Given the description of an element on the screen output the (x, y) to click on. 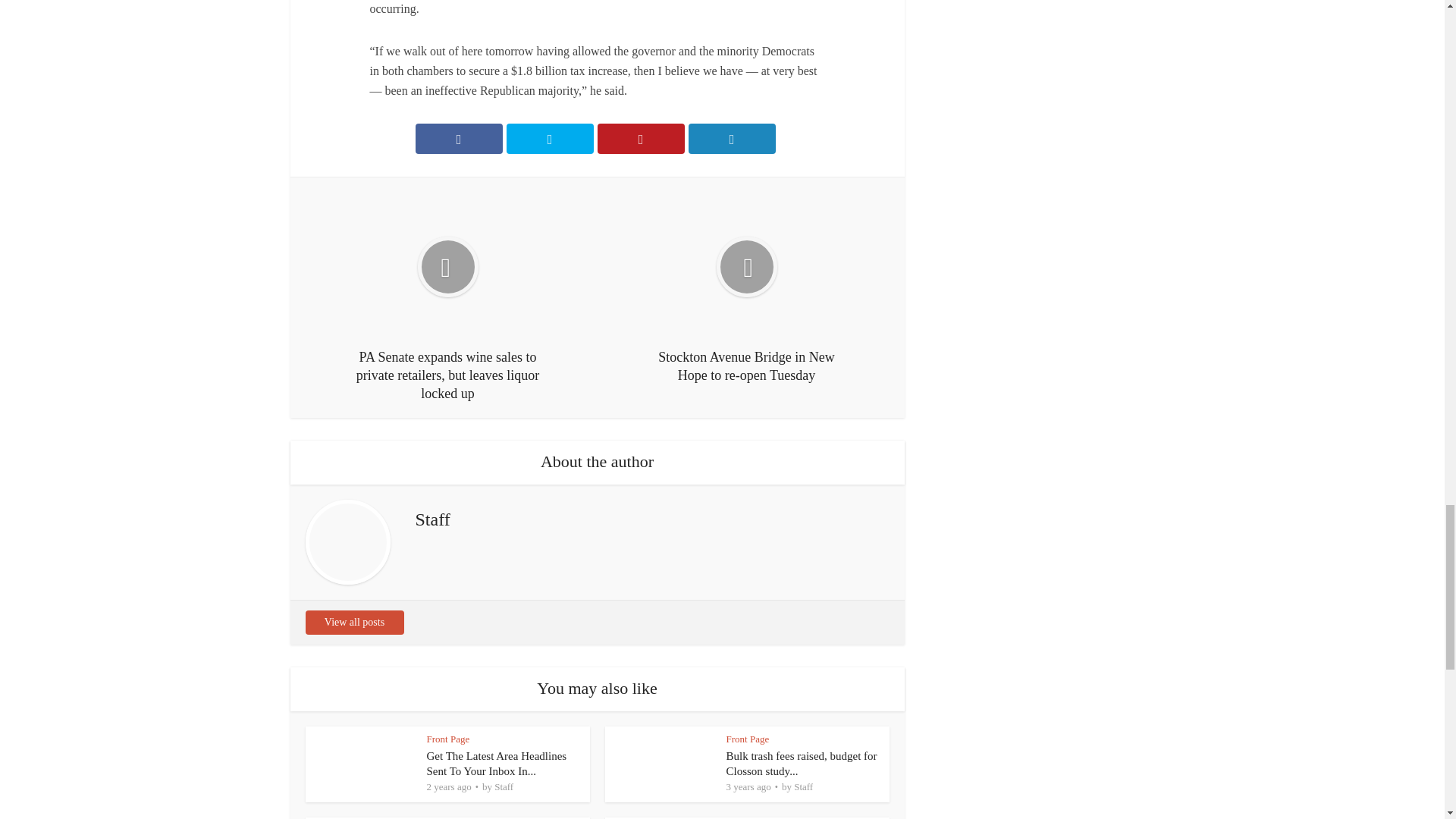
Get The Latest Area Headlines Sent To Your Inbox In 2023! (496, 763)
Staff (504, 786)
Front Page (447, 738)
Front Page (748, 738)
Stockton Avenue Bridge in New Hope to re-open Tuesday (746, 288)
View all posts (353, 622)
Get The Latest Area Headlines Sent To Your Inbox In... (496, 763)
